Given the description of an element on the screen output the (x, y) to click on. 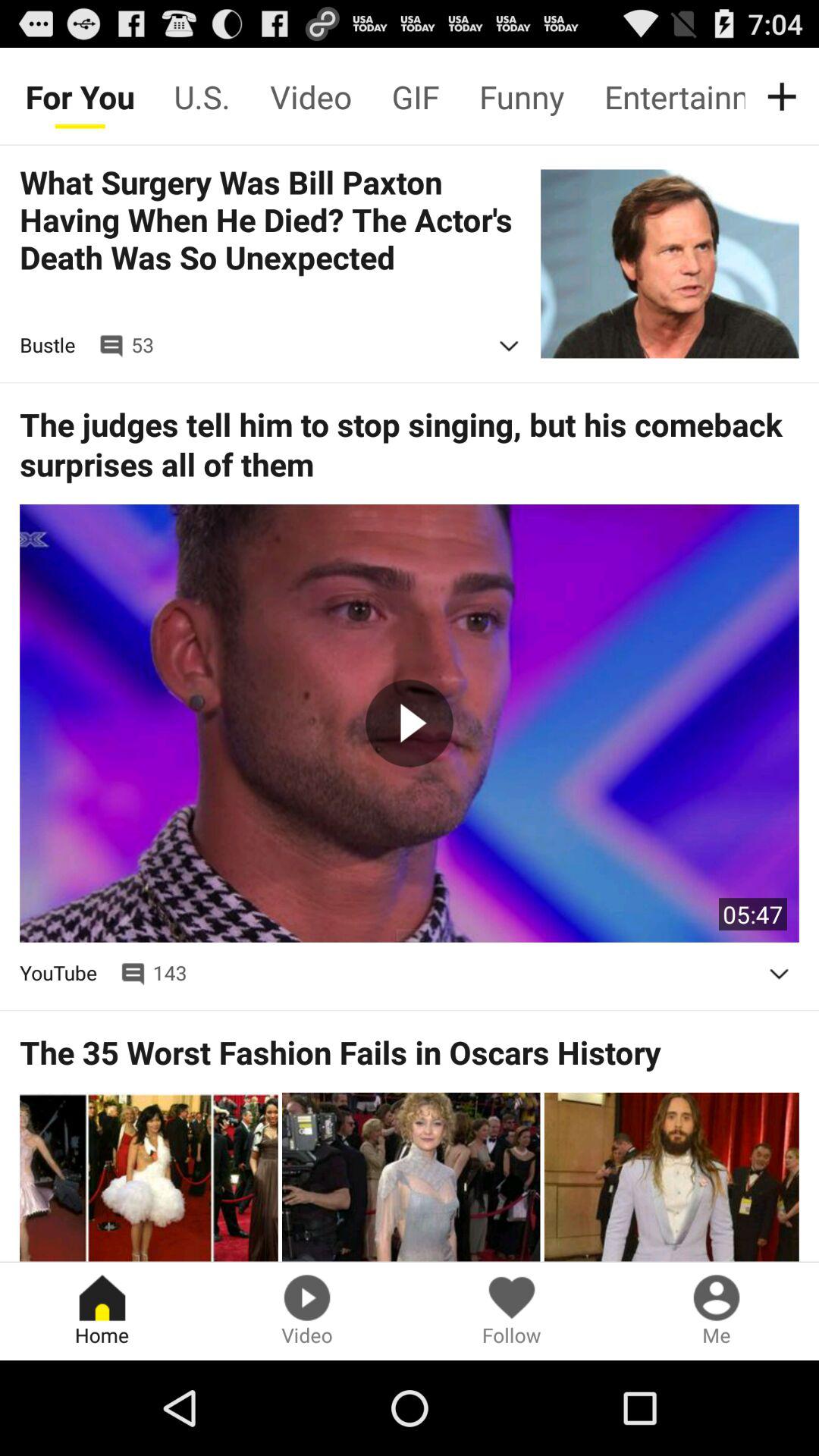
more items (785, 96)
